Given the description of an element on the screen output the (x, y) to click on. 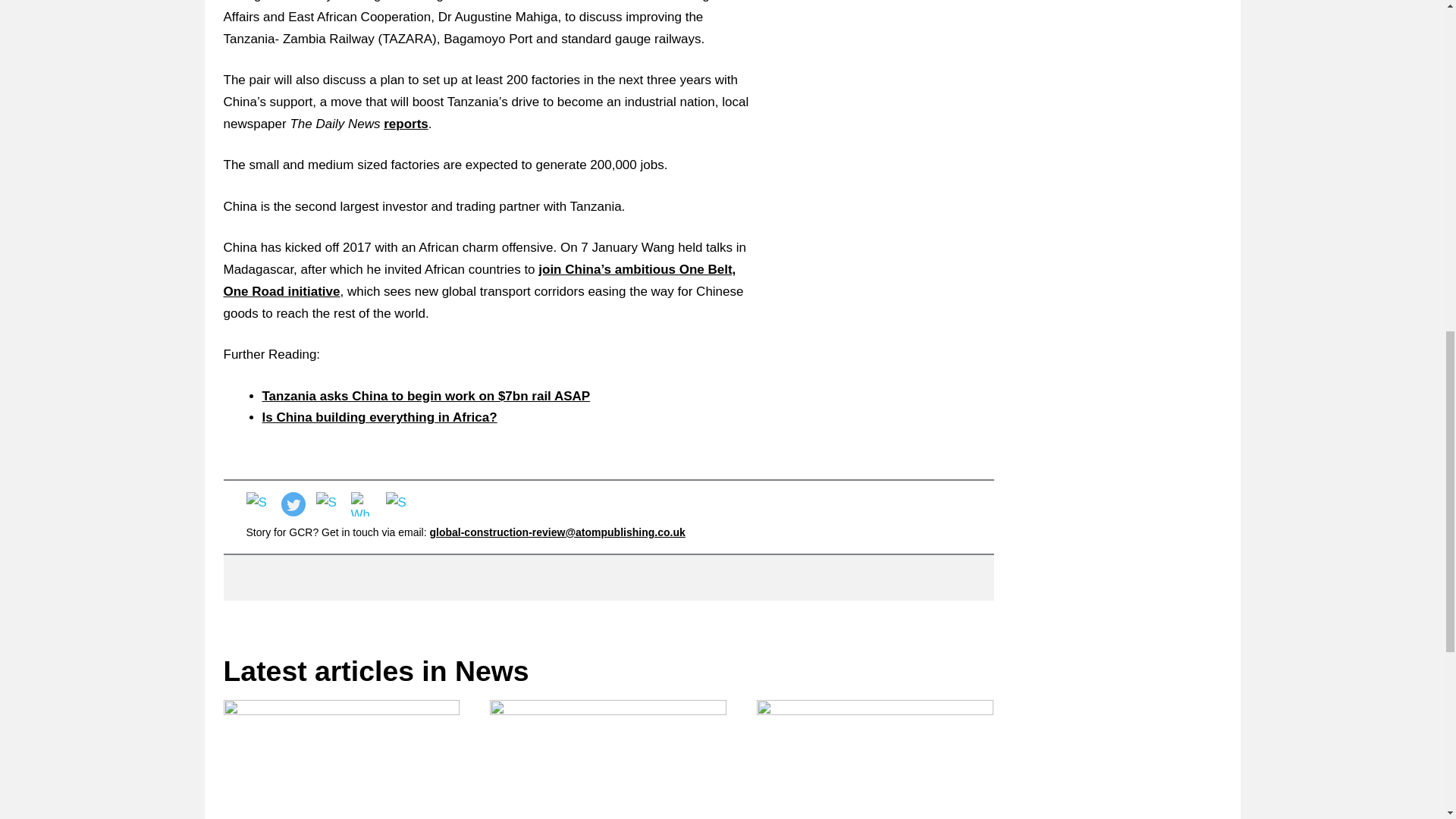
Share on WhatsApp (362, 504)
Tweet (292, 504)
Ukraine makes it easier for foreign companies to build (341, 759)
Send email (397, 504)
Share on Facebook (257, 504)
Share on LinkedIn (327, 504)
